Given the description of an element on the screen output the (x, y) to click on. 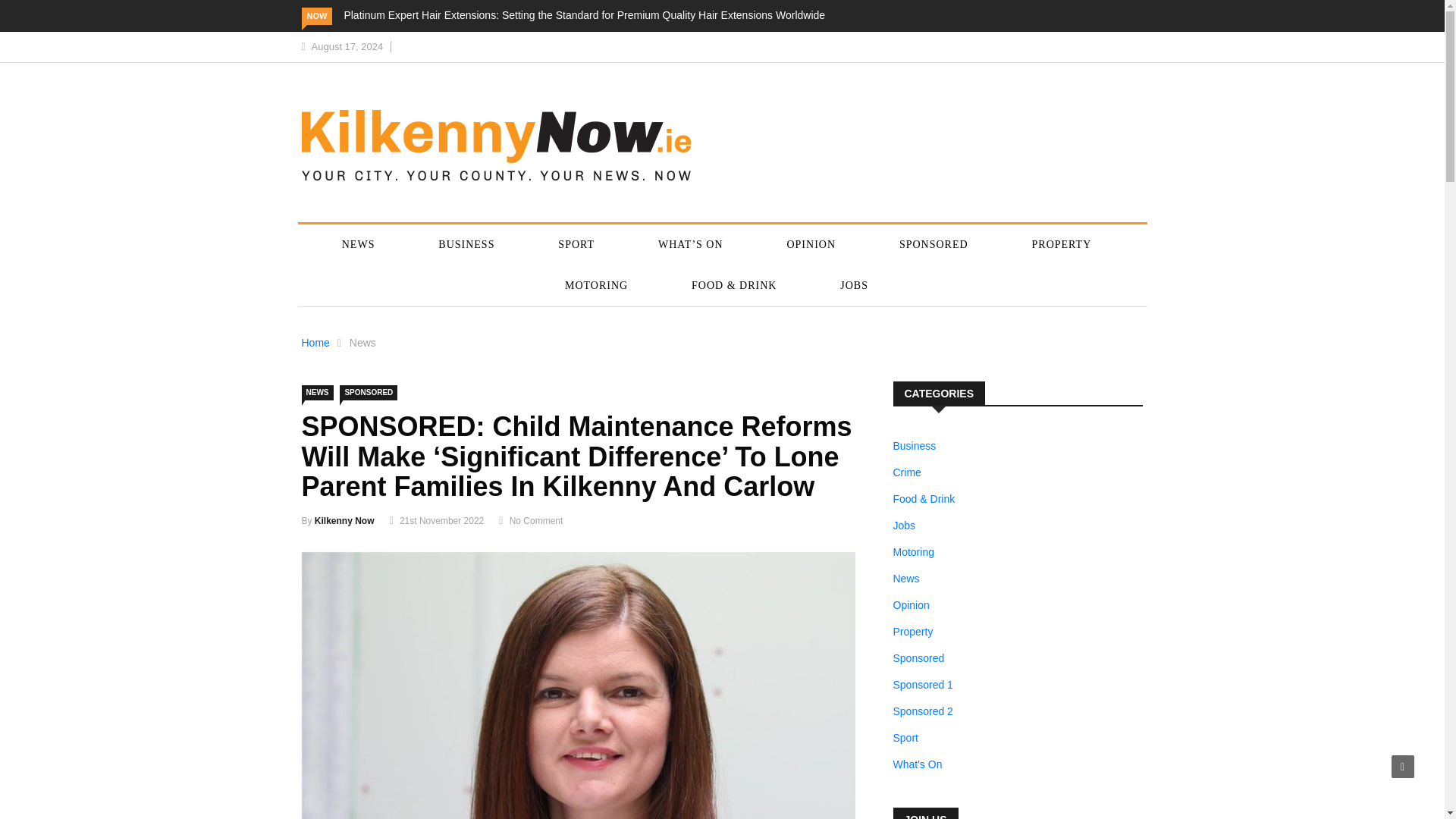
Kilkenny Now (344, 520)
News (362, 342)
MOTORING (596, 285)
BUSINESS (465, 244)
Back to Top (1402, 766)
NEWS (317, 392)
logo (495, 144)
Posts by Kilkenny Now (344, 520)
SPONSORED (368, 392)
SPORT (575, 244)
